Given the description of an element on the screen output the (x, y) to click on. 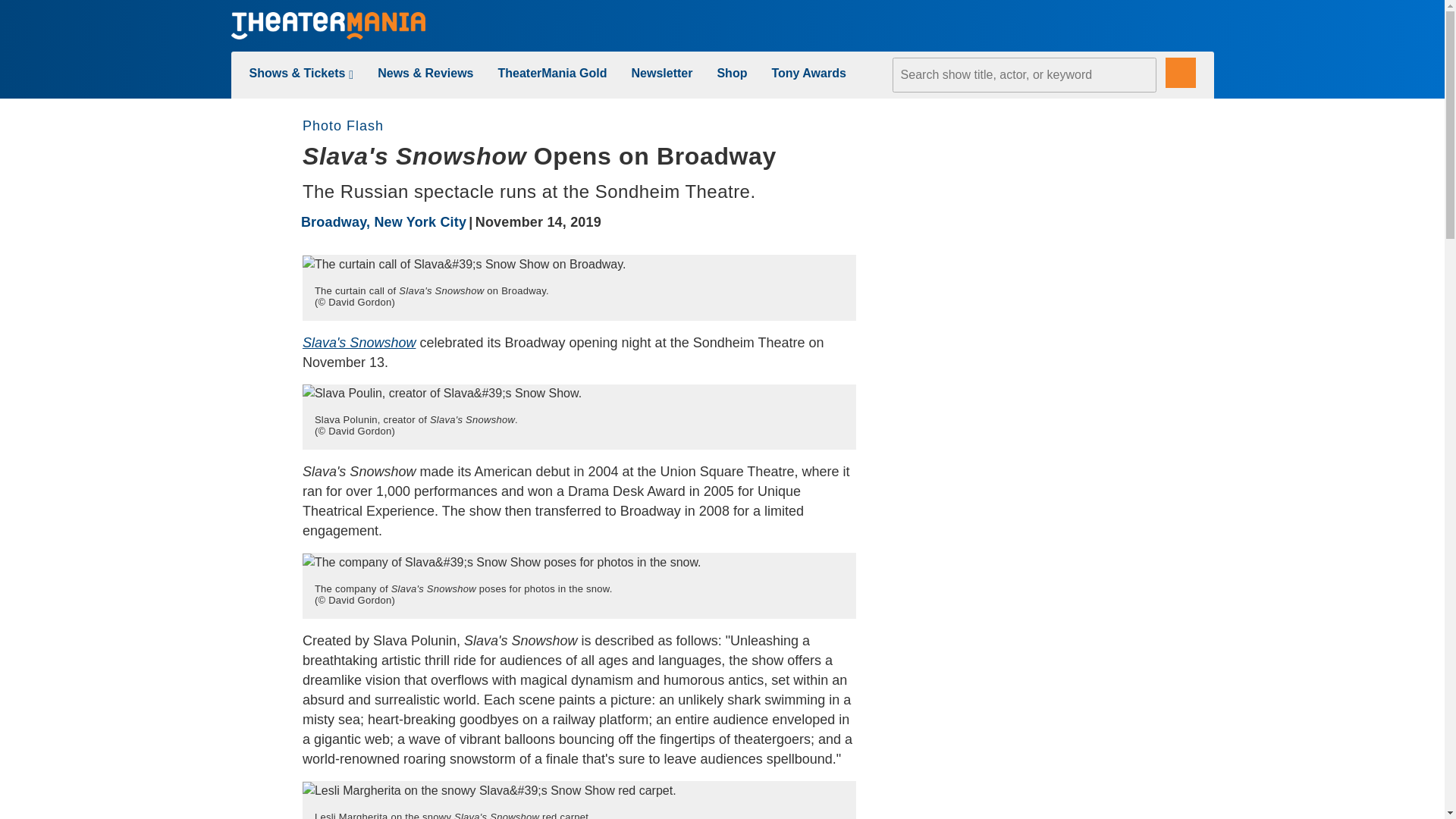
Tony Awards (808, 72)
new-and-reviews-link (425, 72)
Shop (731, 72)
Newsletter (662, 72)
TheaterMania Gold (552, 72)
